Given the description of an element on the screen output the (x, y) to click on. 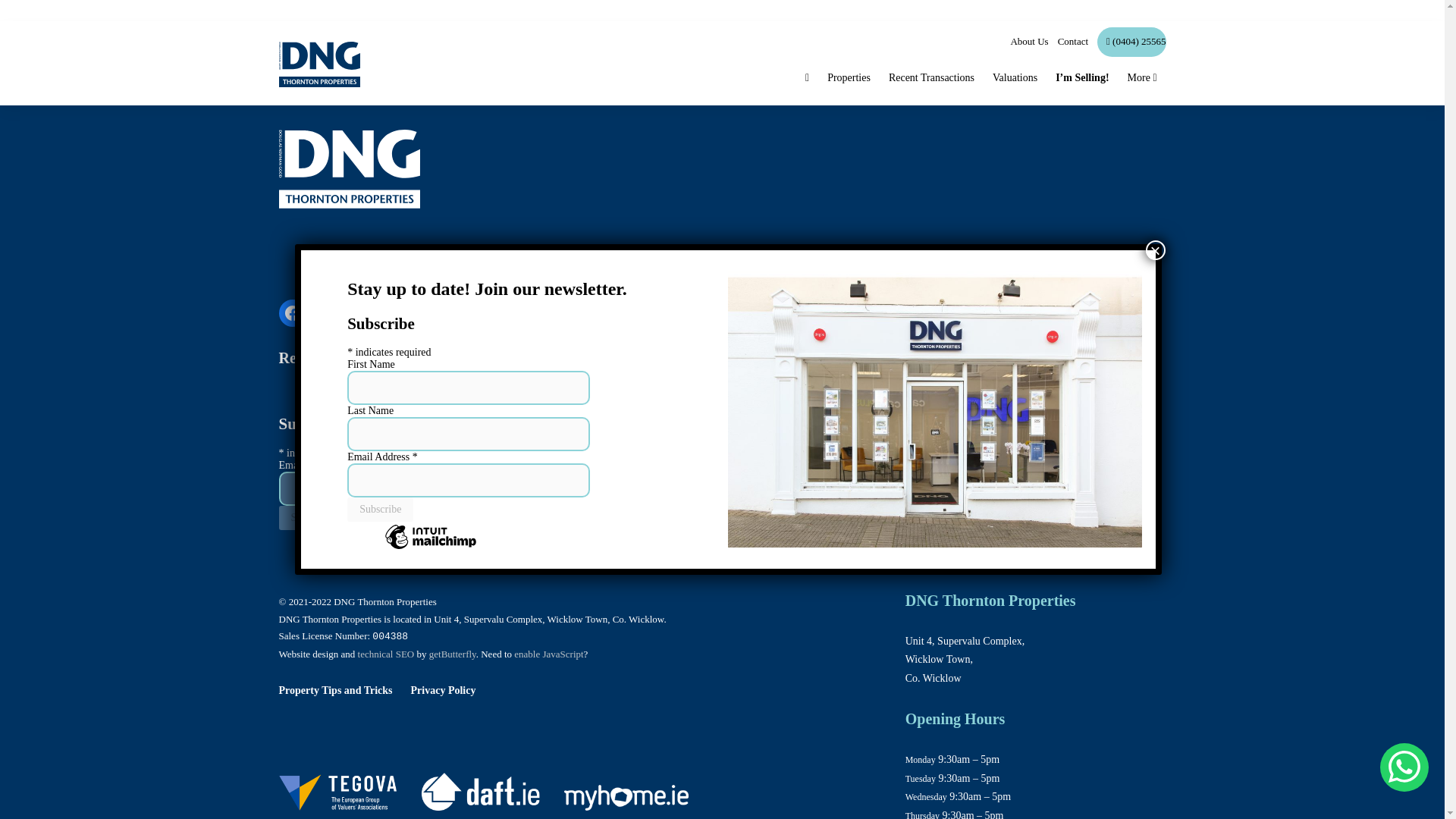
Subscribe (380, 509)
Mailchimp - email marketing made easy and fun (362, 556)
Valuations (1015, 77)
Recent Transactions (931, 77)
About (768, 357)
Subscribe (312, 517)
About Us (1024, 41)
Area Guides (689, 357)
Valuations (501, 357)
Properties (848, 77)
Contact (1067, 41)
getButterfly (452, 654)
Mailchimp - email marketing made easy and fun (430, 548)
DNG Thornton Properties (324, 814)
Subscribe (312, 517)
